Given the description of an element on the screen output the (x, y) to click on. 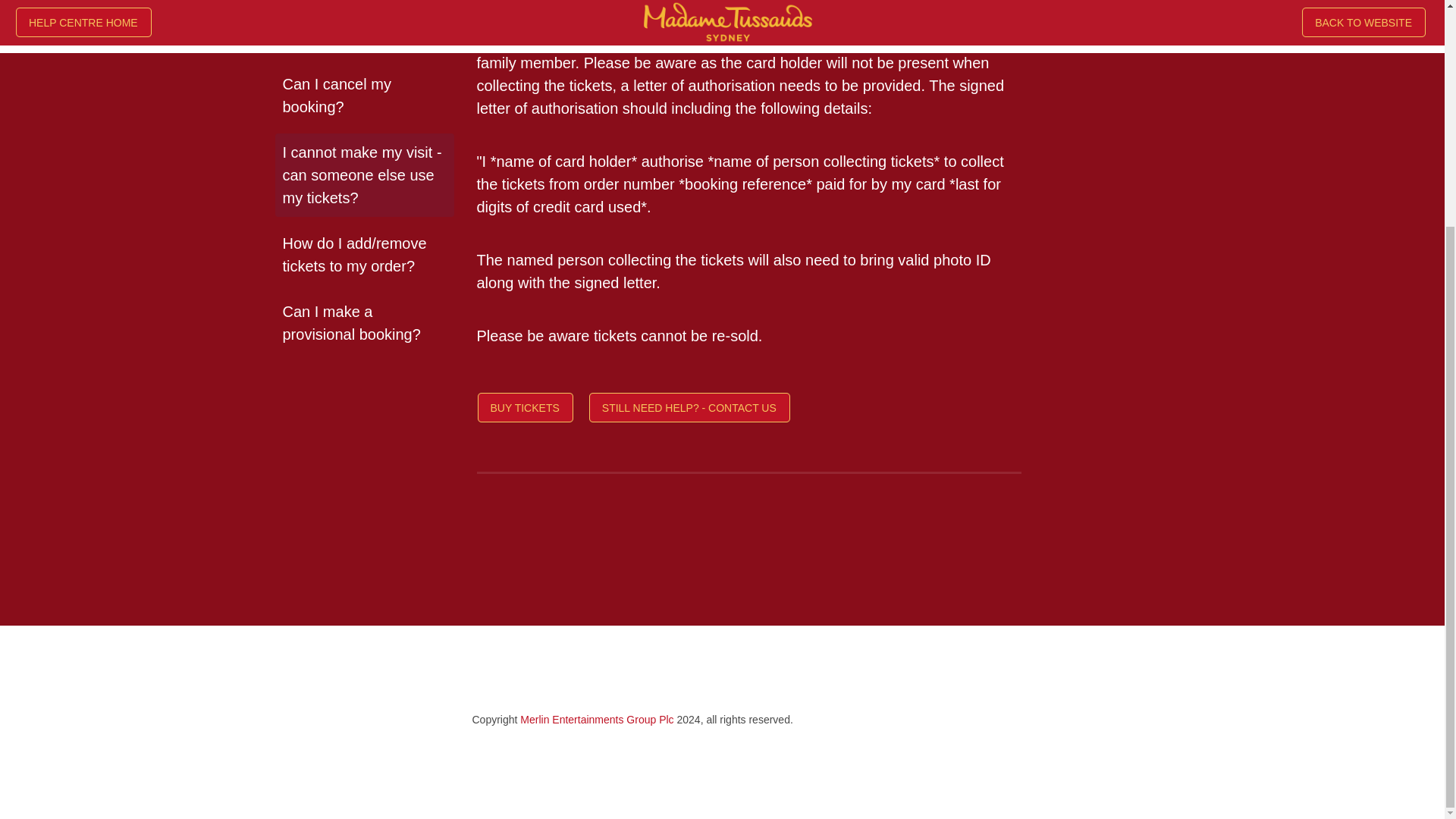
Merlin Entertainments Group Plc (595, 719)
Can I cancel my booking? (363, 95)
Can I make a provisional booking? (363, 322)
I cannot make my visit - can someone else use my tickets? (363, 175)
STILL NEED HELP? - CONTACT US (690, 409)
BUY TICKETS (526, 409)
